Given the description of an element on the screen output the (x, y) to click on. 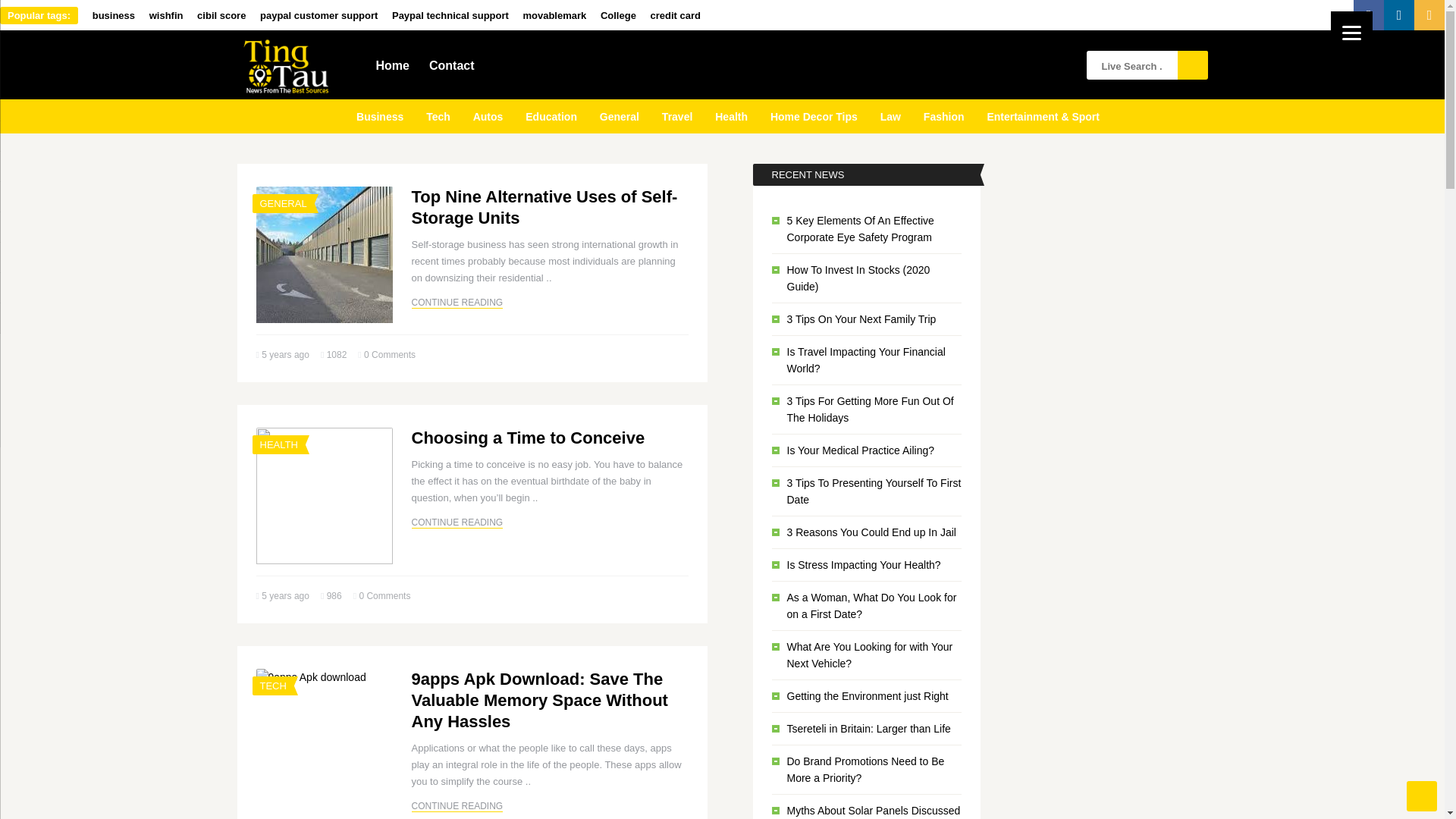
Health (731, 115)
Education (551, 115)
Contact (451, 64)
Search (1191, 64)
Search (1191, 64)
Autos (488, 115)
business (114, 15)
0 Comments (389, 354)
Tech (438, 115)
Home Decor Tips (813, 115)
